Given the description of an element on the screen output the (x, y) to click on. 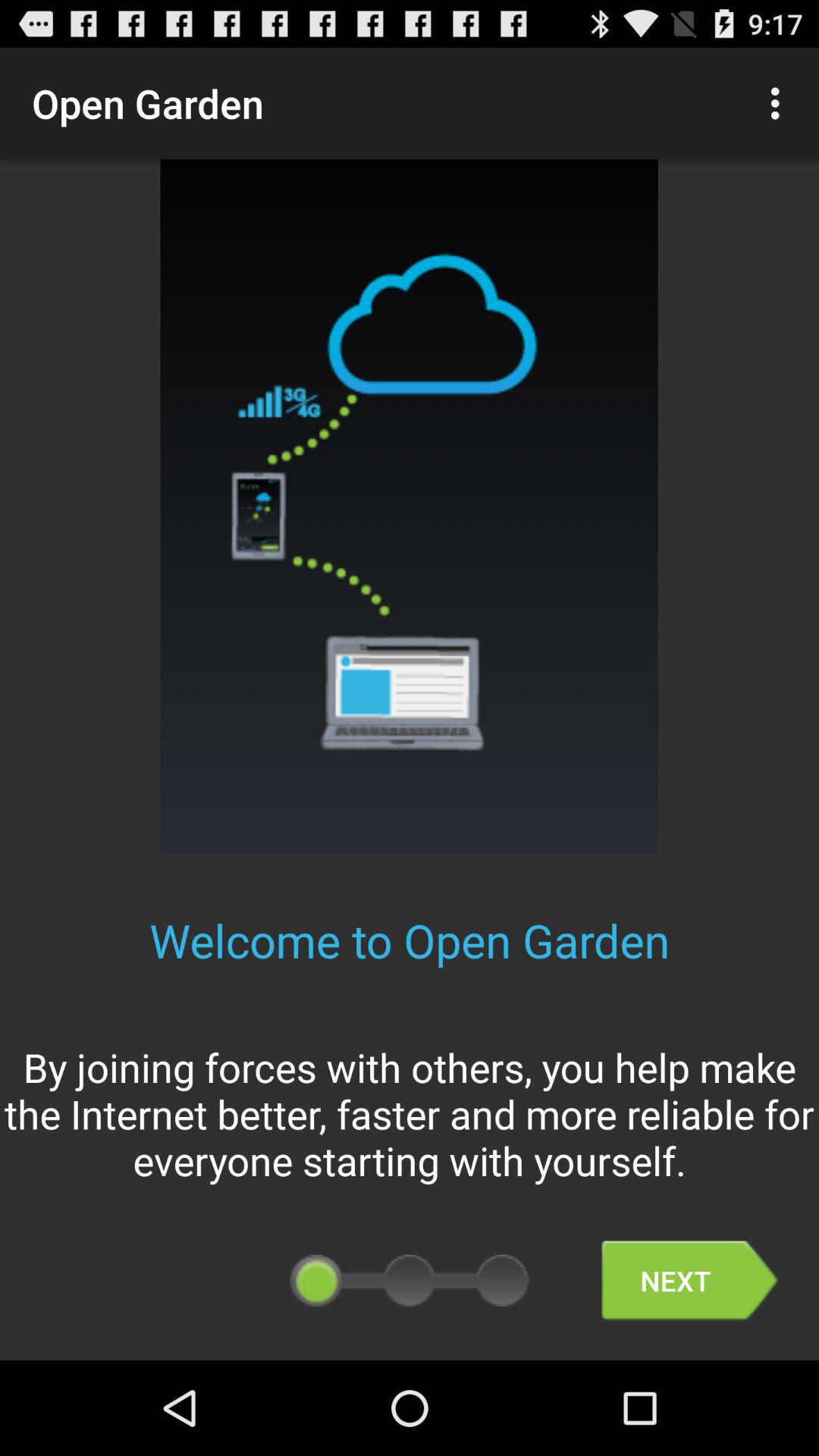
press the icon at the bottom right corner (689, 1280)
